Given the description of an element on the screen output the (x, y) to click on. 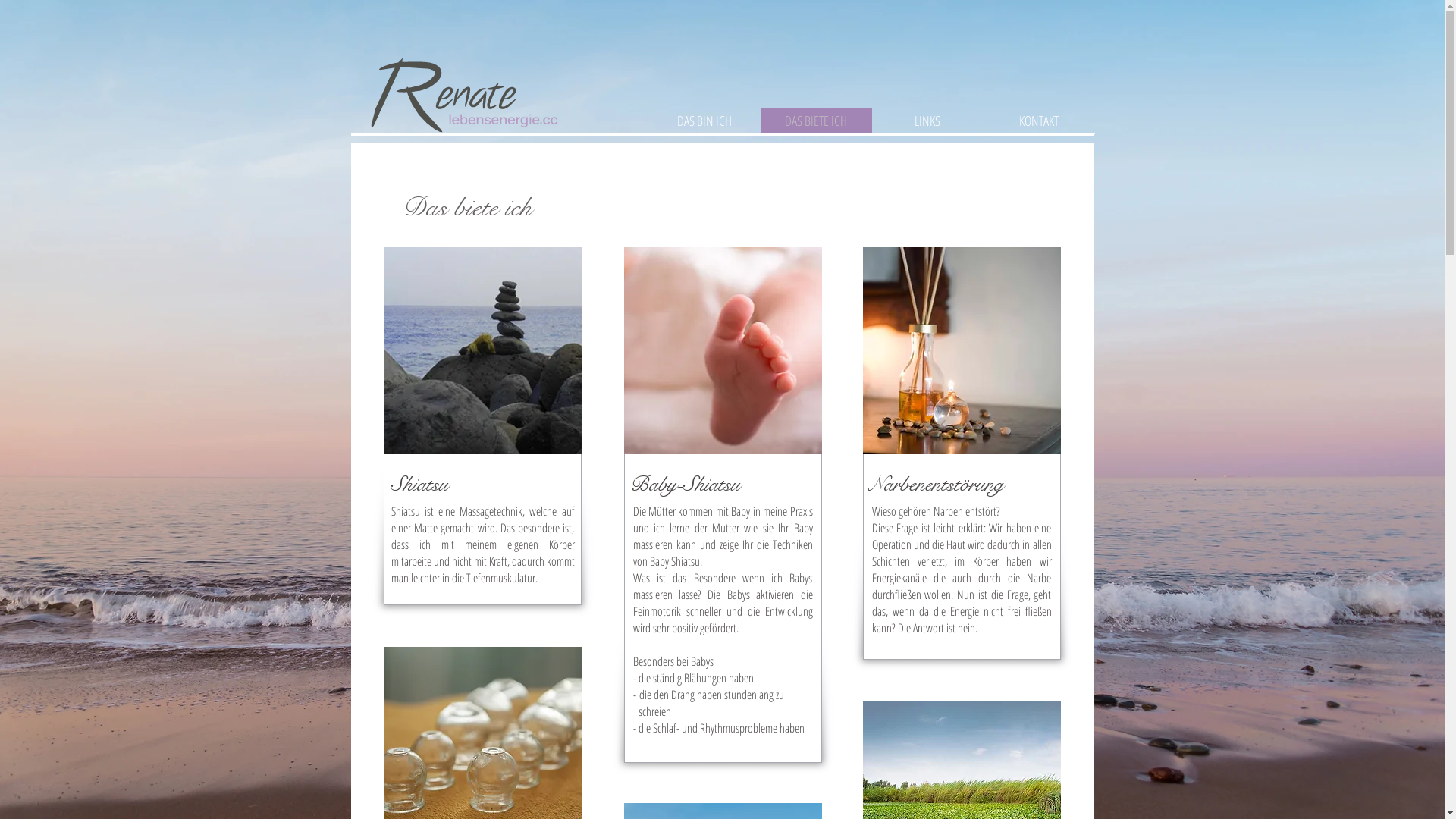
KONTAKT Element type: text (1038, 120)
DAS BIETE ICH Element type: text (815, 120)
Baby Shiatsu Element type: hover (722, 350)
LINKS Element type: text (927, 120)
DAS BIN ICH Element type: text (703, 120)
